Given the description of an element on the screen output the (x, y) to click on. 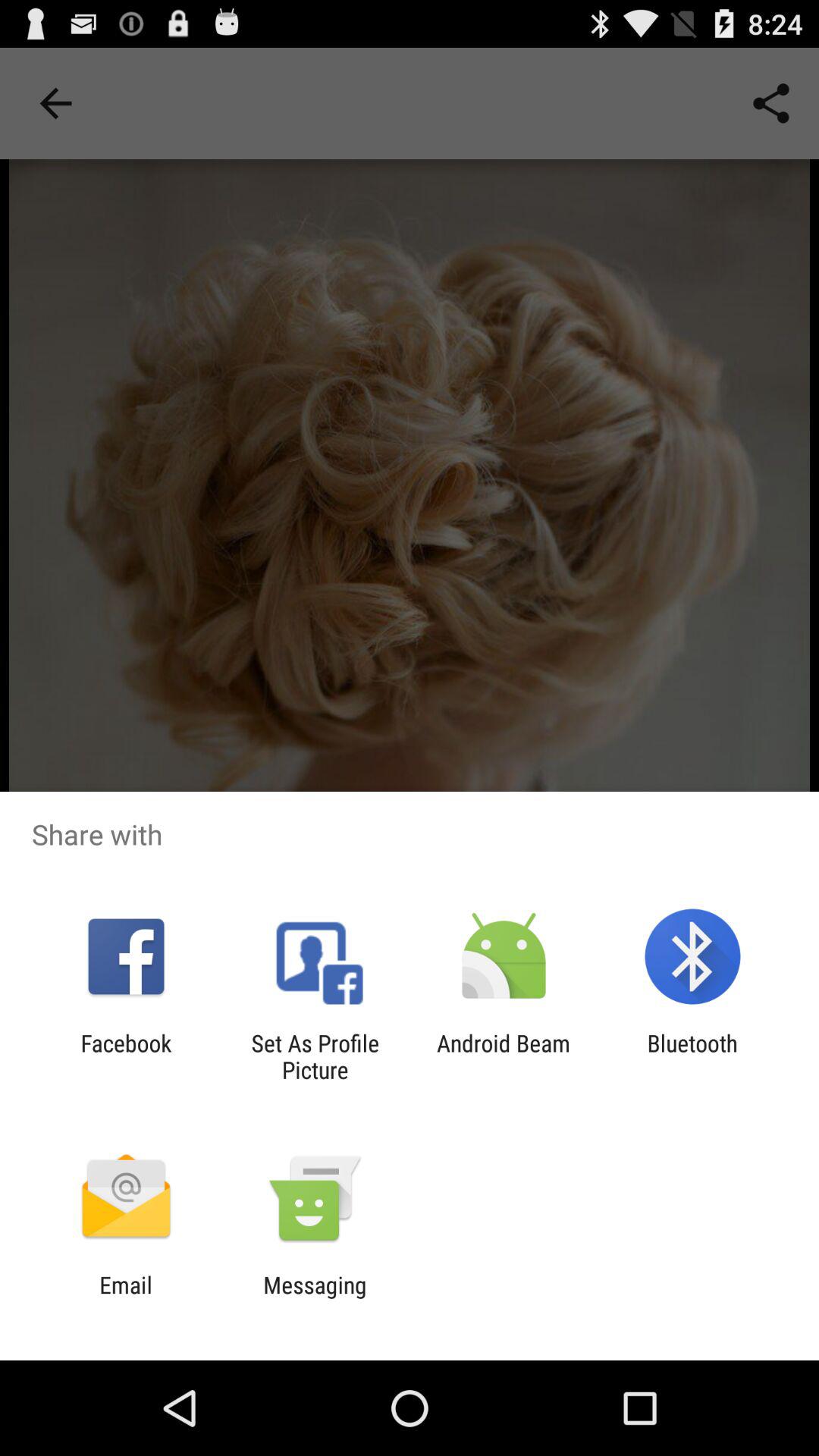
press the item next to android beam item (314, 1056)
